Given the description of an element on the screen output the (x, y) to click on. 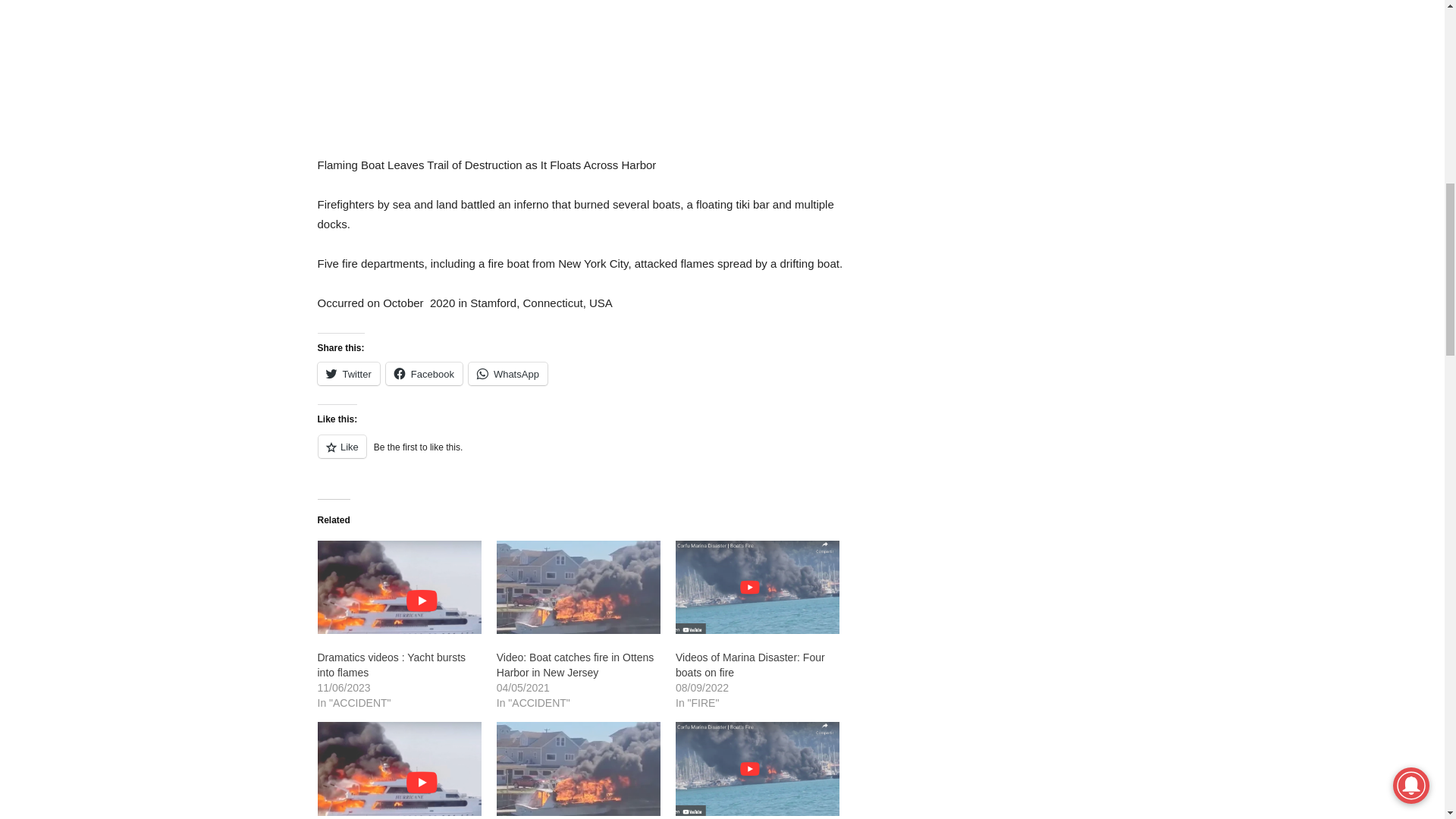
WhatsApp (507, 373)
Facebook (424, 373)
Twitter (347, 373)
